Given the description of an element on the screen output the (x, y) to click on. 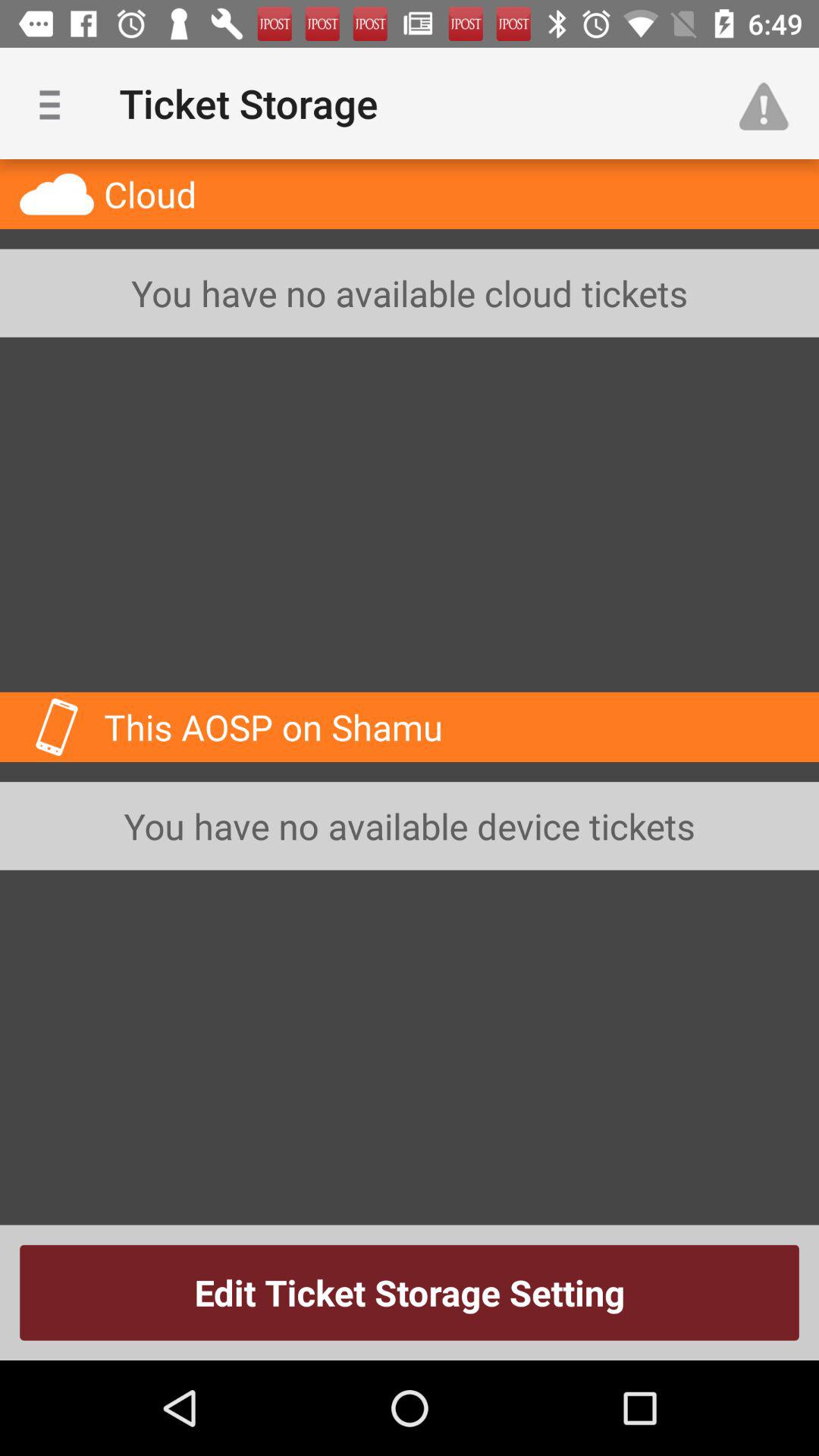
tap the icon next to ticket storage icon (771, 103)
